Given the description of an element on the screen output the (x, y) to click on. 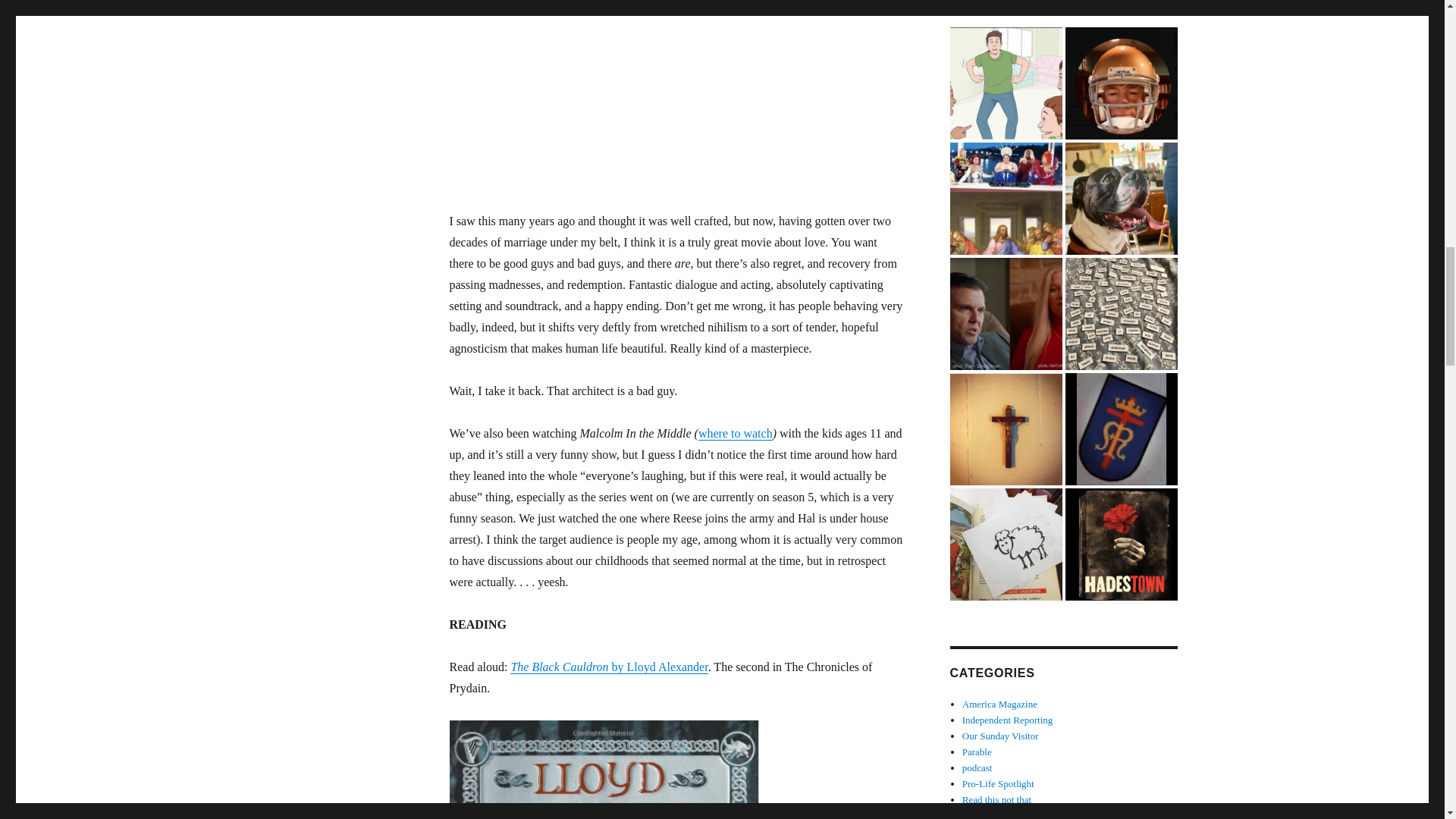
The Black Cauldron by Lloyd Alexander (609, 666)
10 ridiculous family games that need no equipment (1005, 83)
where to watch (735, 432)
The table where you sit (1005, 198)
Game review: Ransom Notes (1120, 313)
Who funded Kari Beckman's fall from grace? (1005, 313)
